Given the description of an element on the screen output the (x, y) to click on. 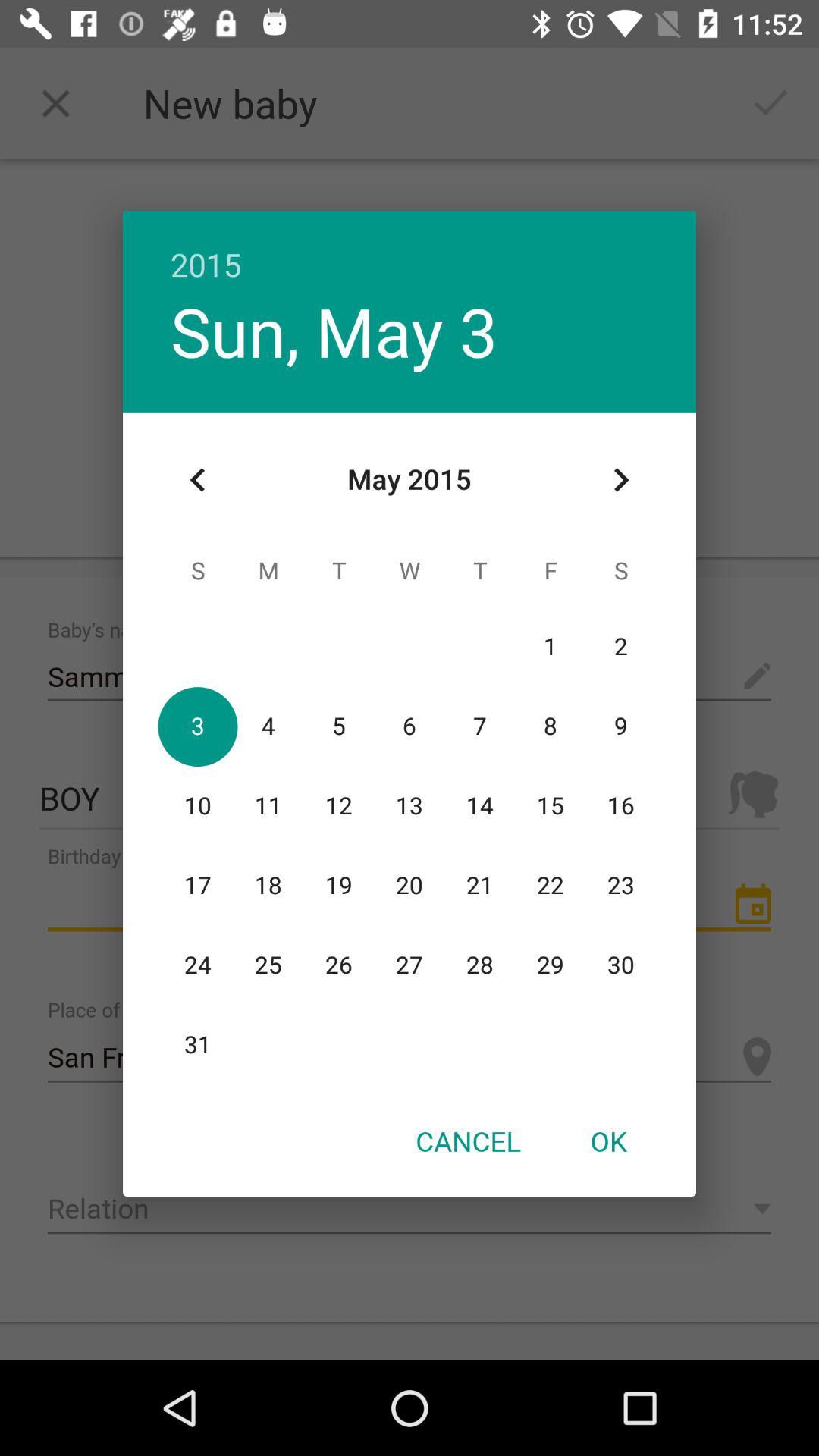
launch the icon below 2015 item (620, 479)
